Given the description of an element on the screen output the (x, y) to click on. 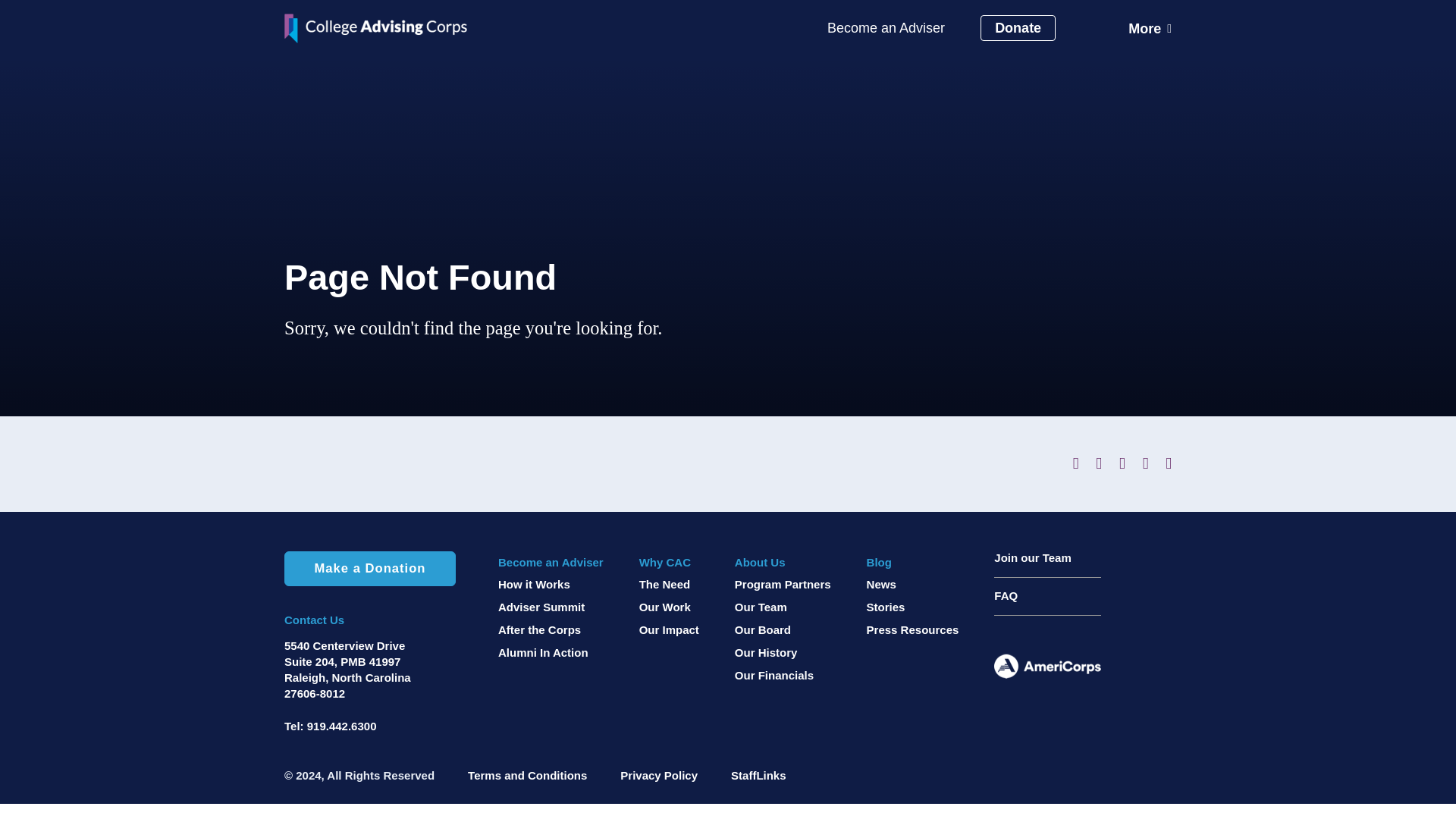
Become an Adviser (550, 562)
Become an Adviser (885, 28)
Make a Donation (369, 568)
More (1150, 28)
How it Works (550, 584)
Adviser Summit (550, 607)
919.442.6300 (342, 725)
Donate (1017, 27)
